Given the description of an element on the screen output the (x, y) to click on. 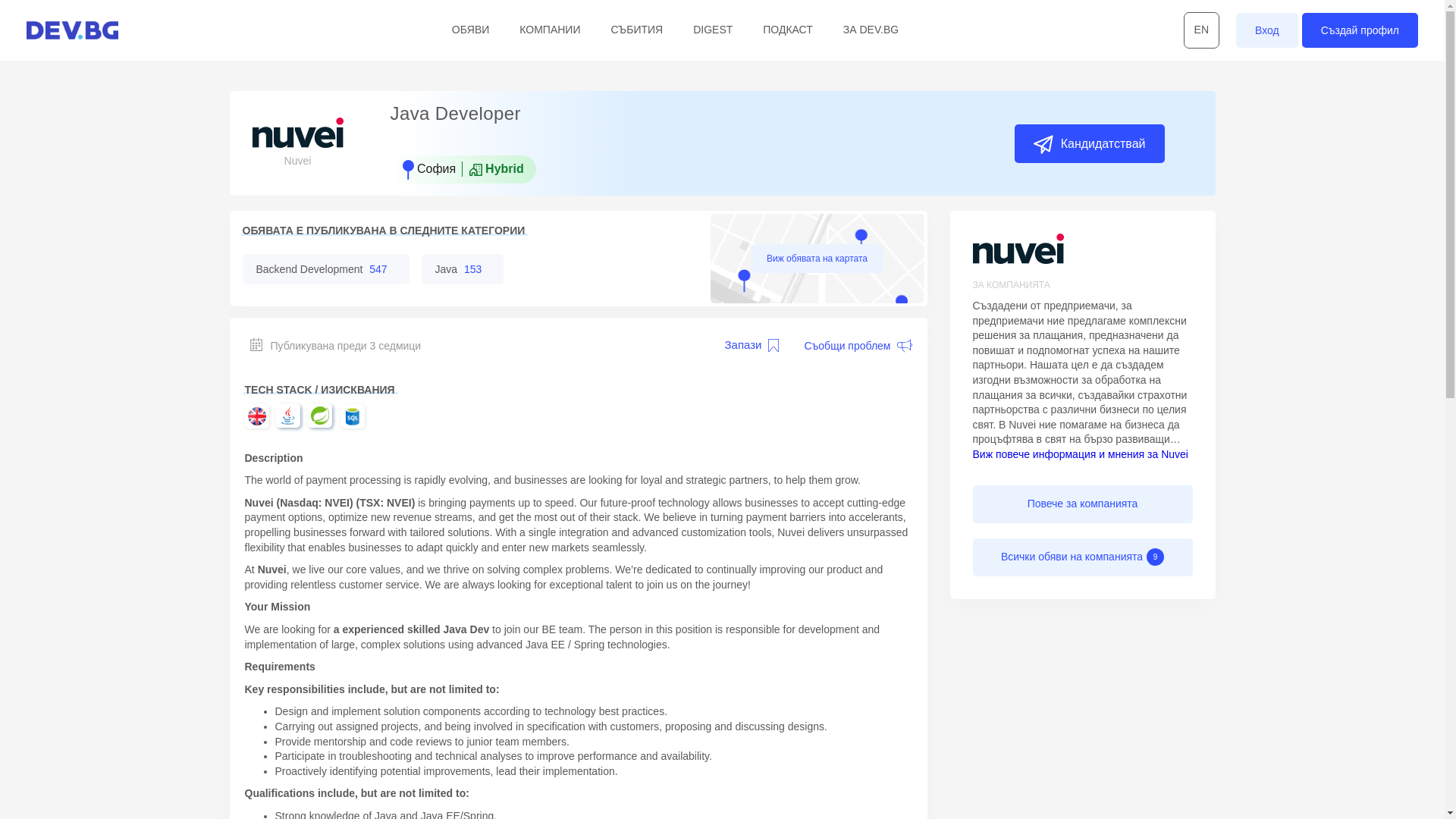
Spring (320, 415)
EN (1201, 30)
English (255, 416)
SQL (351, 416)
Java (288, 415)
DIGEST (712, 29)
